Given the description of an element on the screen output the (x, y) to click on. 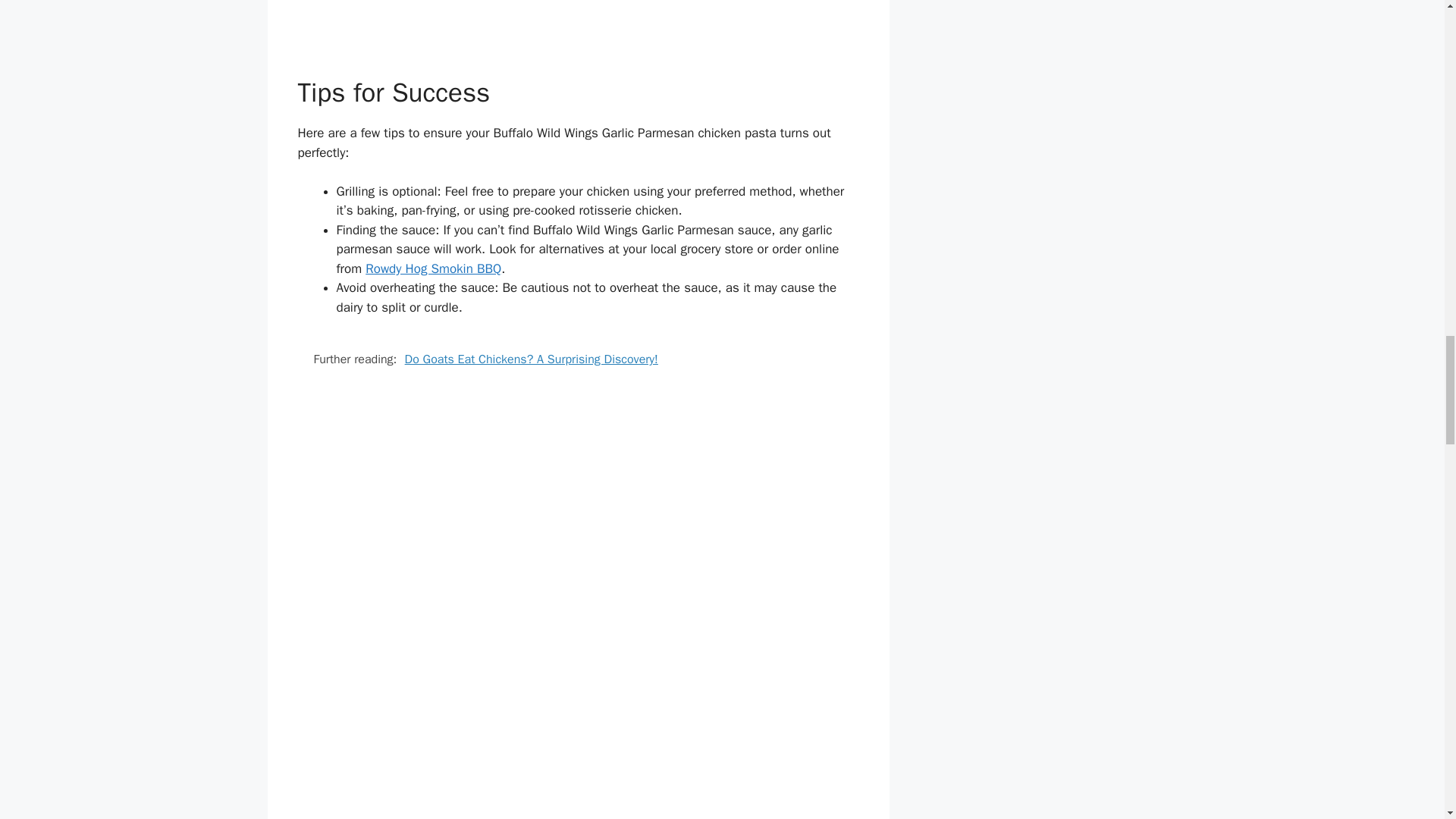
Rowdy Hog Smokin BBQ (432, 268)
